Given the description of an element on the screen output the (x, y) to click on. 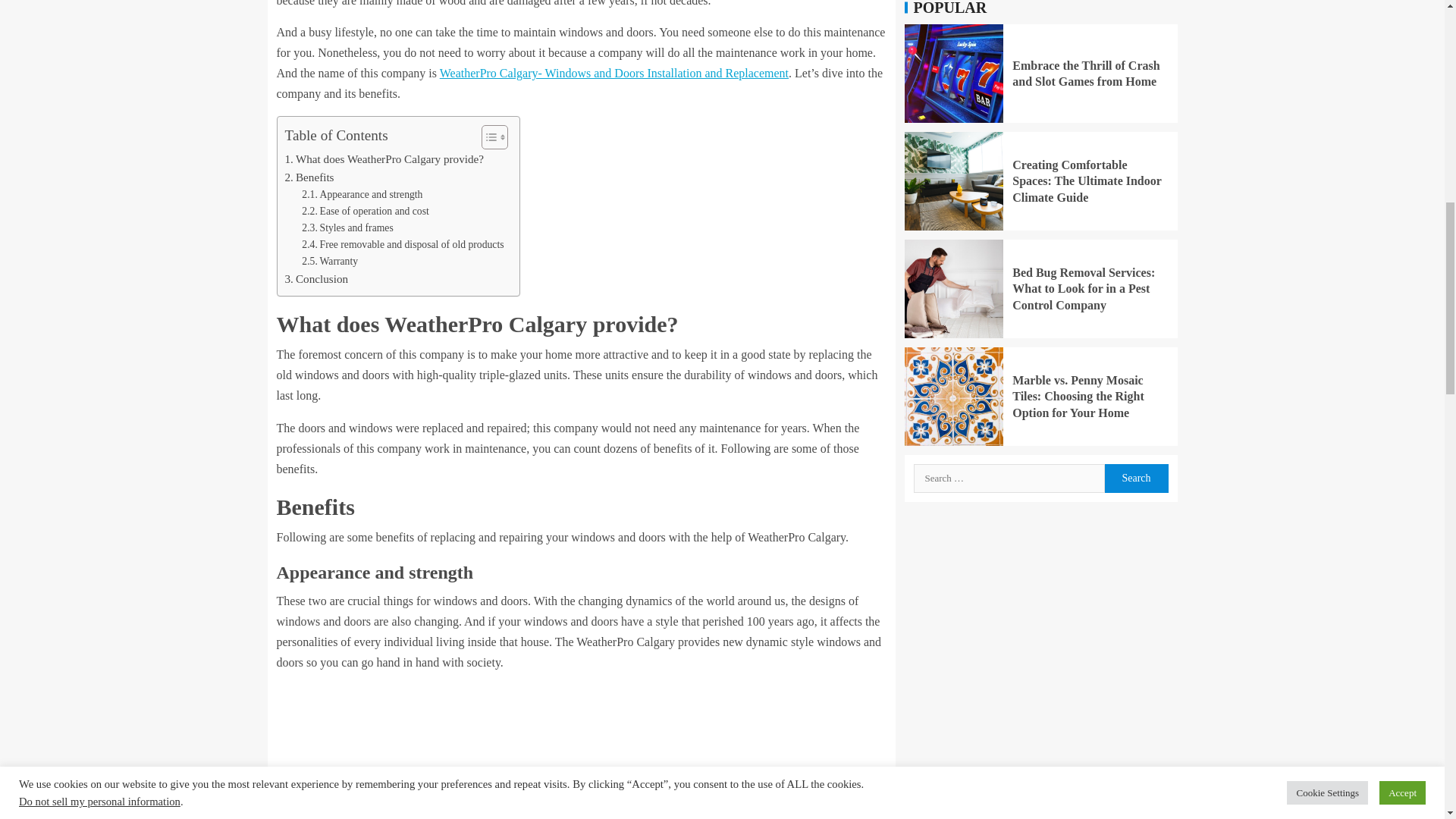
Conclusion (317, 279)
What does WeatherPro Calgary provide? (384, 158)
Free removable and disposal of old products (402, 244)
Conclusion (317, 279)
Styles and frames (347, 228)
Warranty (329, 261)
Benefits (309, 177)
Benefits (309, 177)
Appearance and strength (361, 194)
Warranty (329, 261)
What does WeatherPro Calgary provide? (384, 158)
Styles and frames (347, 228)
Ease of operation and cost (365, 211)
Ease of operation and cost (365, 211)
